Given the description of an element on the screen output the (x, y) to click on. 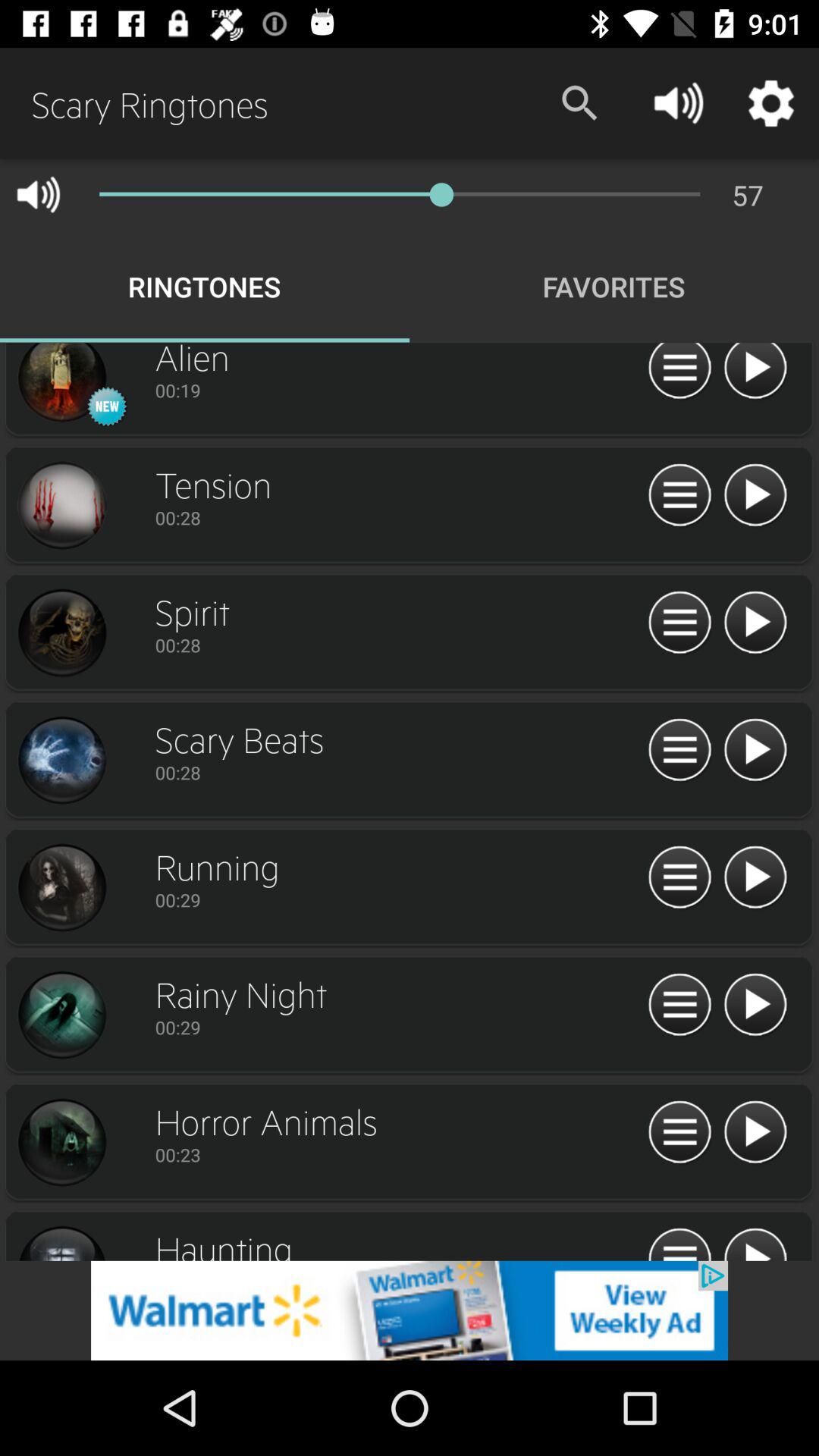
open menu (679, 1005)
